Given the description of an element on the screen output the (x, y) to click on. 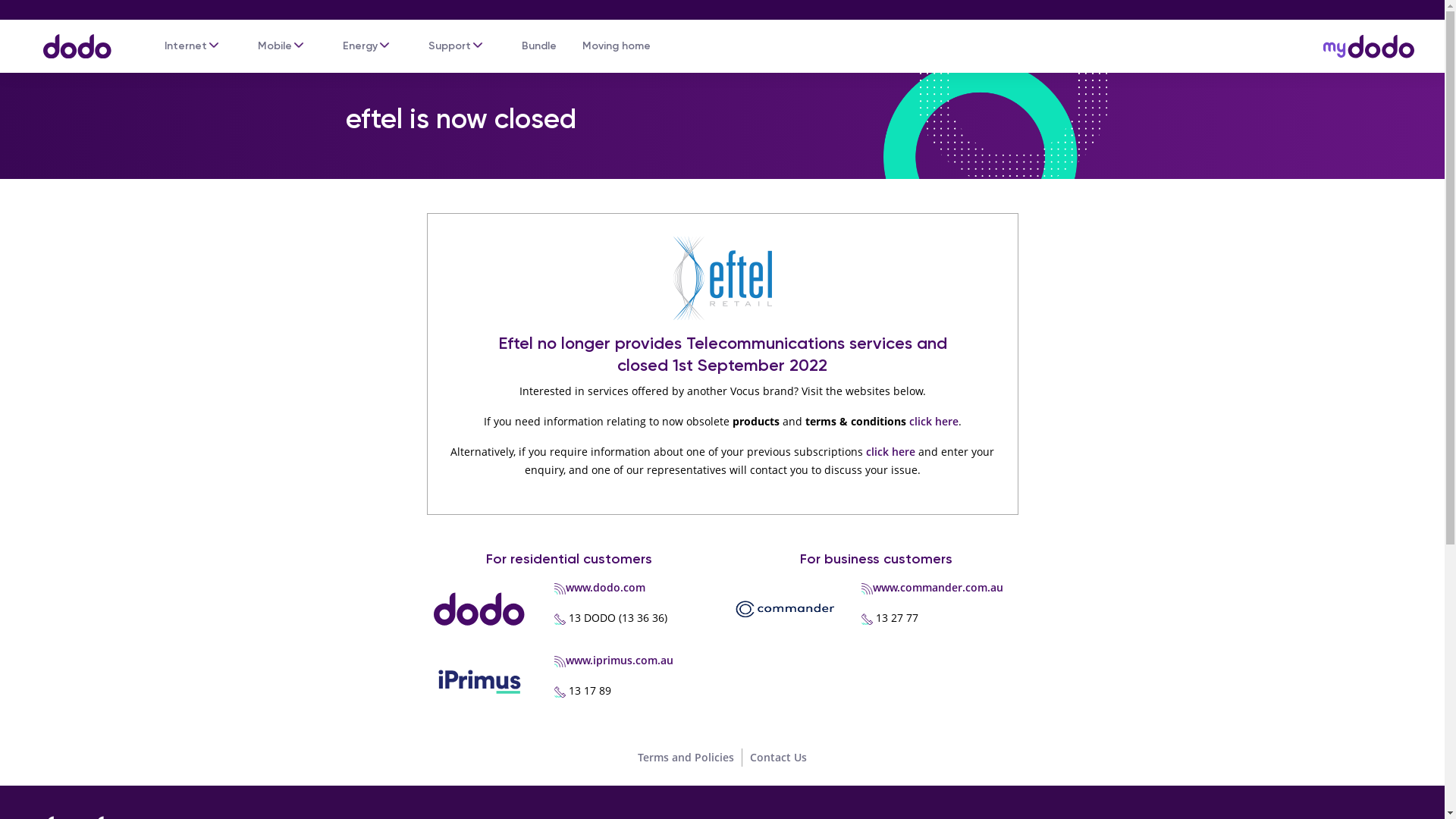
Mobile Element type: text (274, 45)
Moving home Element type: text (616, 45)
Energy Element type: text (359, 45)
Home Element type: hover (69, 38)
Support Element type: text (449, 45)
www.commander.com.au Element type: text (937, 587)
Internet Element type: text (185, 45)
Bundle Element type: text (538, 45)
Contact Us Element type: text (777, 756)
Skip to main content Element type: text (721, 1)
www.iprimus.com.au Element type: text (619, 659)
click here Element type: text (890, 451)
www.dodo.com Element type: text (605, 587)
Terms and Policies Element type: text (685, 756)
click here Element type: text (932, 421)
